Given the description of an element on the screen output the (x, y) to click on. 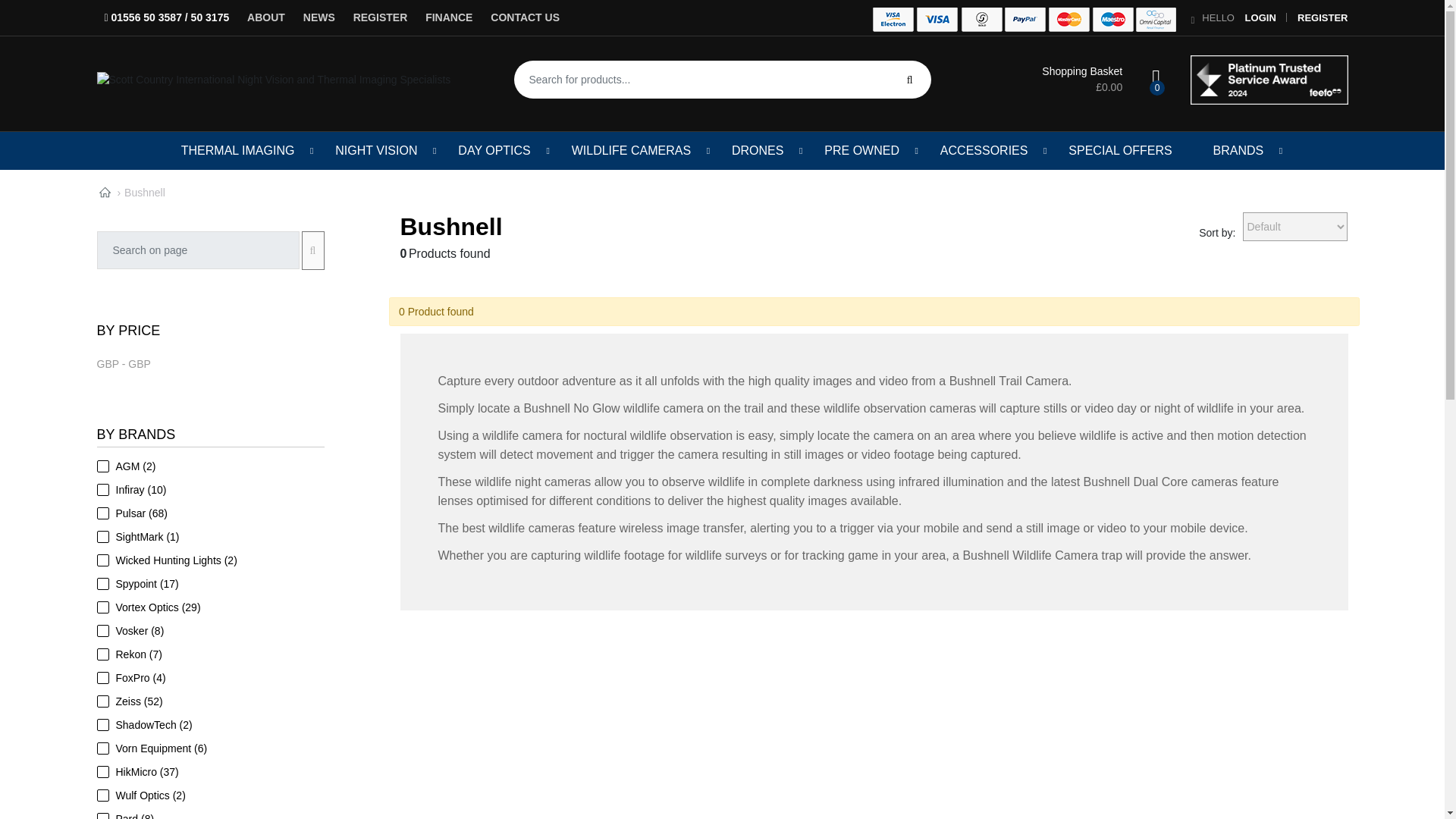
CONTACT US (525, 17)
LOGIN (1260, 17)
NEWS (318, 17)
Home page (104, 192)
FINANCE (448, 17)
REGISTER (380, 17)
ABOUT (266, 17)
Start search (909, 79)
REGISTER (1322, 17)
